Given the description of an element on the screen output the (x, y) to click on. 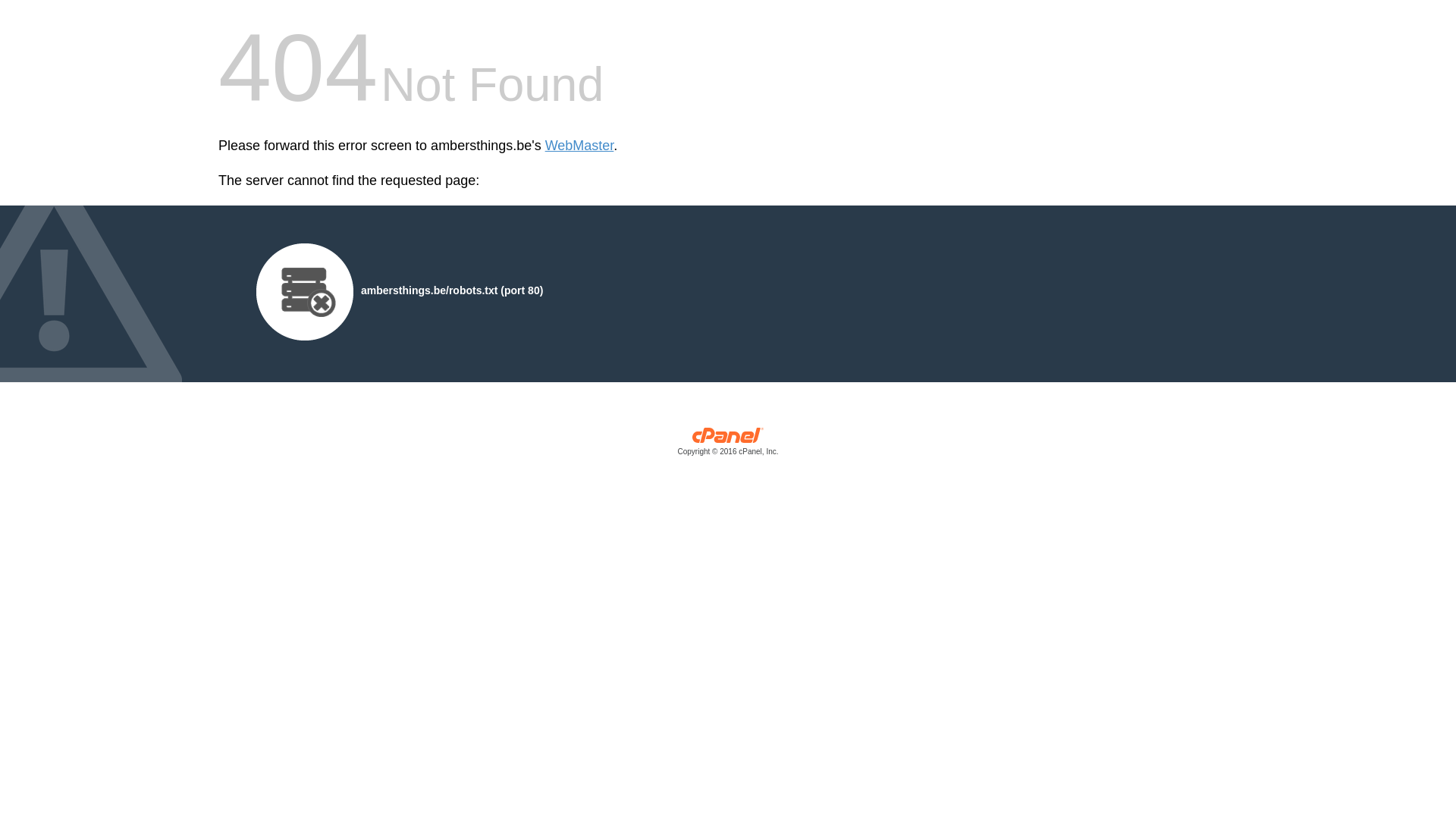
WebMaster Element type: text (579, 145)
